Given the description of an element on the screen output the (x, y) to click on. 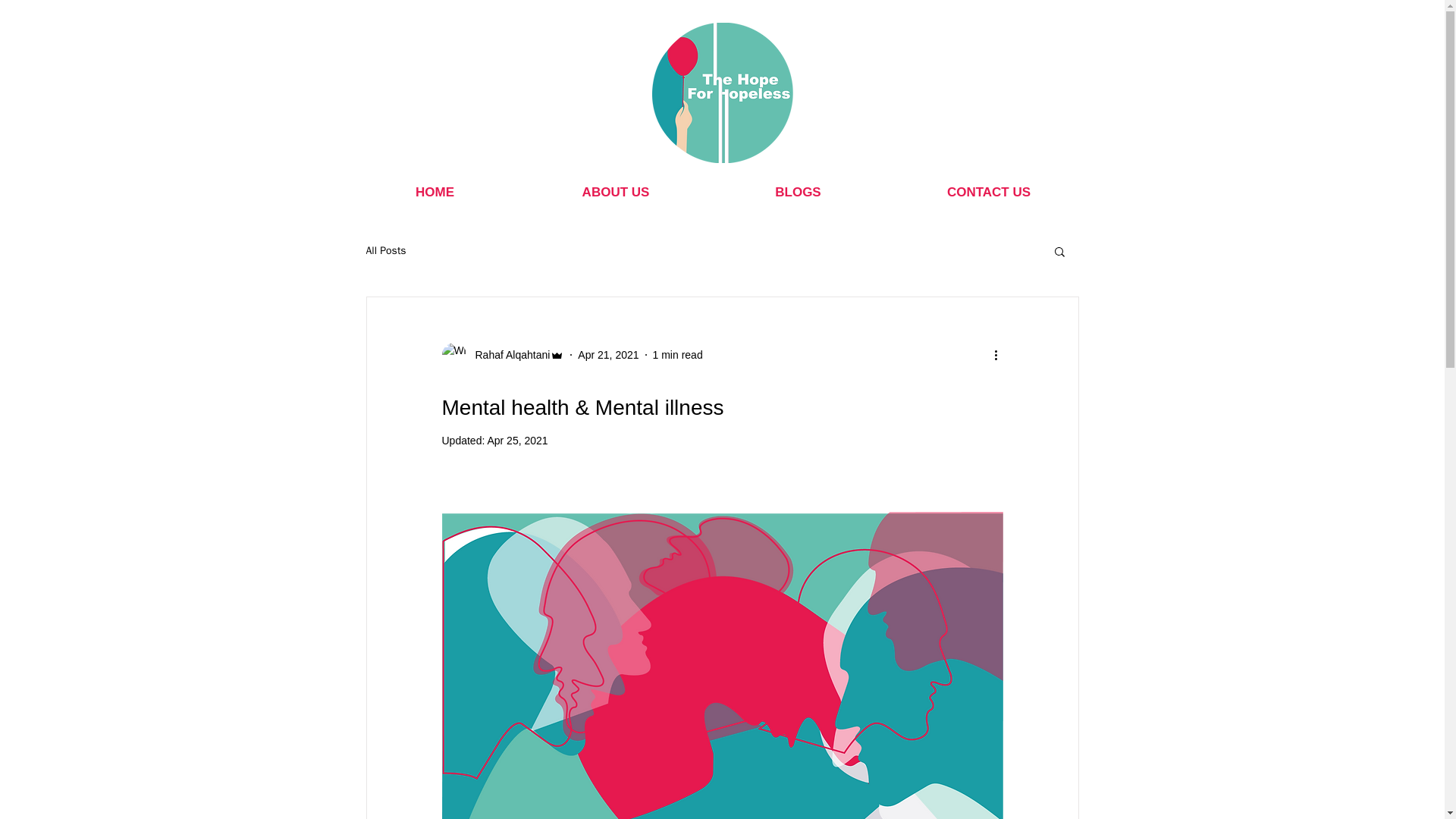
1 min read (677, 354)
Apr 21, 2021 (608, 354)
Rahaf Alqahtani (507, 355)
ABOUT US (614, 192)
All Posts (385, 250)
CONTACT US (988, 192)
BLOGS (798, 192)
HOME (434, 192)
Apr 25, 2021 (516, 440)
Rahaf Alqahtani (502, 354)
